Given the description of an element on the screen output the (x, y) to click on. 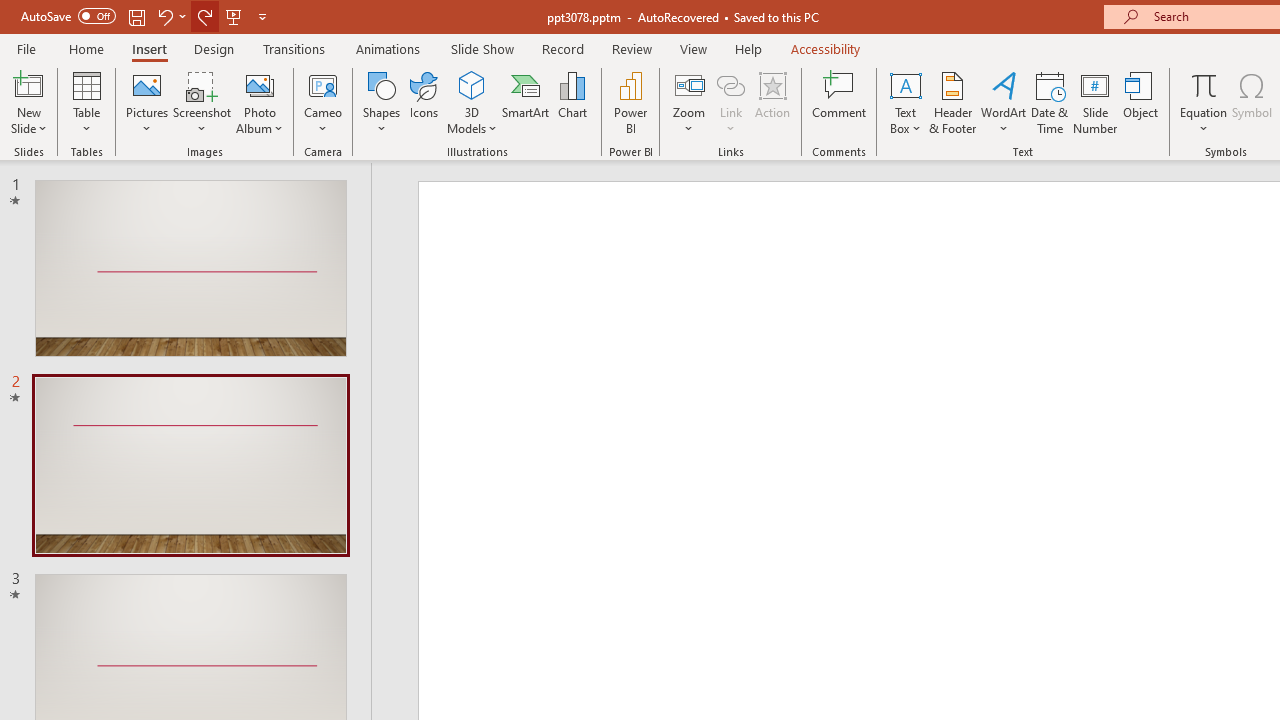
Symbol... (1252, 102)
Screenshot (202, 102)
Date & Time... (1050, 102)
Slide Number (1095, 102)
